Given the description of an element on the screen output the (x, y) to click on. 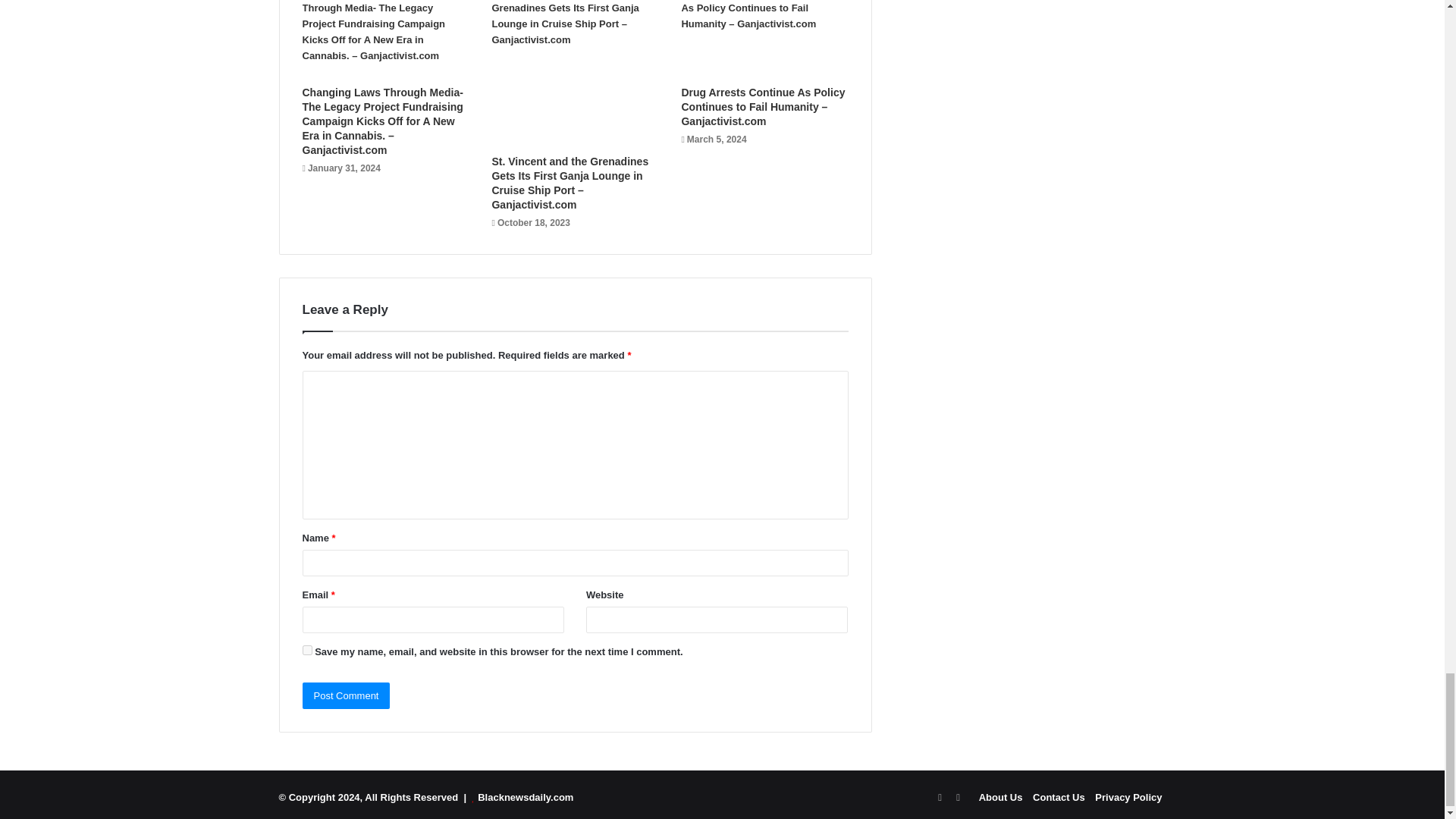
Post Comment (345, 695)
yes (306, 650)
